Given the description of an element on the screen output the (x, y) to click on. 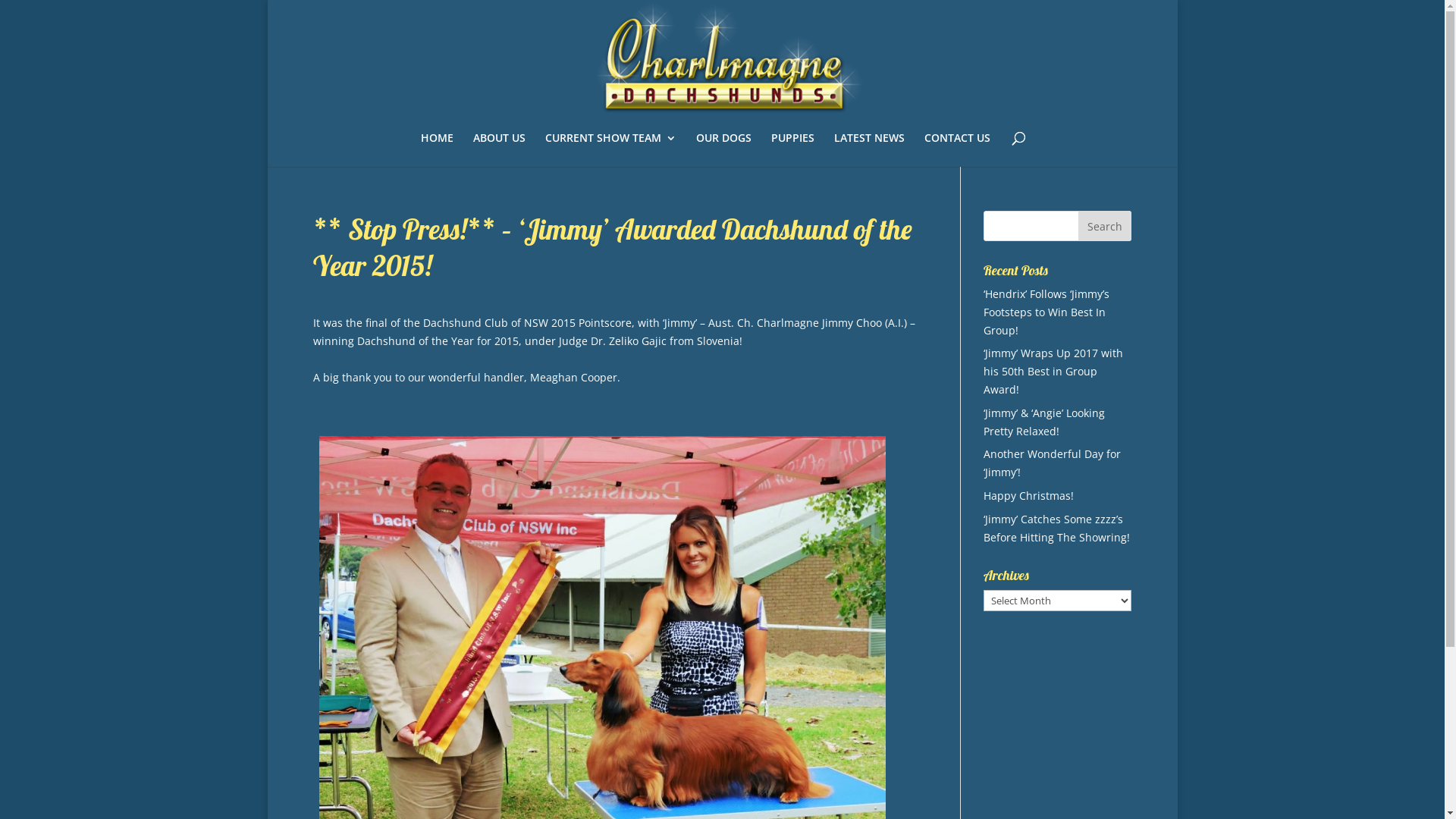
HOME Element type: text (436, 149)
PUPPIES Element type: text (792, 149)
ABOUT US Element type: text (499, 149)
OUR DOGS Element type: text (723, 149)
CURRENT SHOW TEAM Element type: text (610, 149)
LATEST NEWS Element type: text (869, 149)
Search Element type: text (1104, 225)
Happy Christmas! Element type: text (1028, 495)
CONTACT US Element type: text (957, 149)
